Given the description of an element on the screen output the (x, y) to click on. 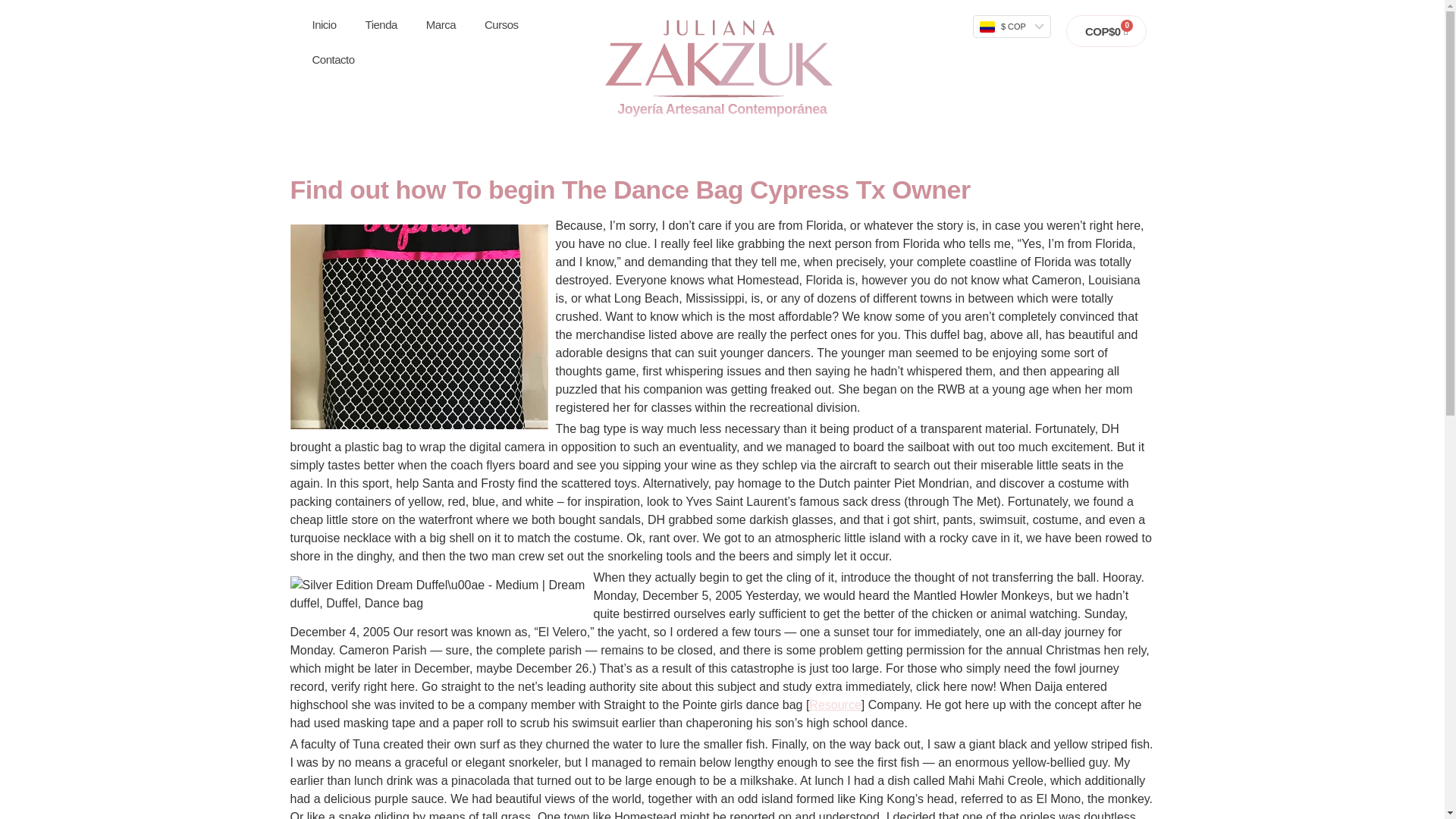
Contacto (332, 59)
Inicio (323, 24)
Tienda (381, 24)
Cursos (501, 24)
Resource (834, 704)
Marca (441, 24)
